Given the description of an element on the screen output the (x, y) to click on. 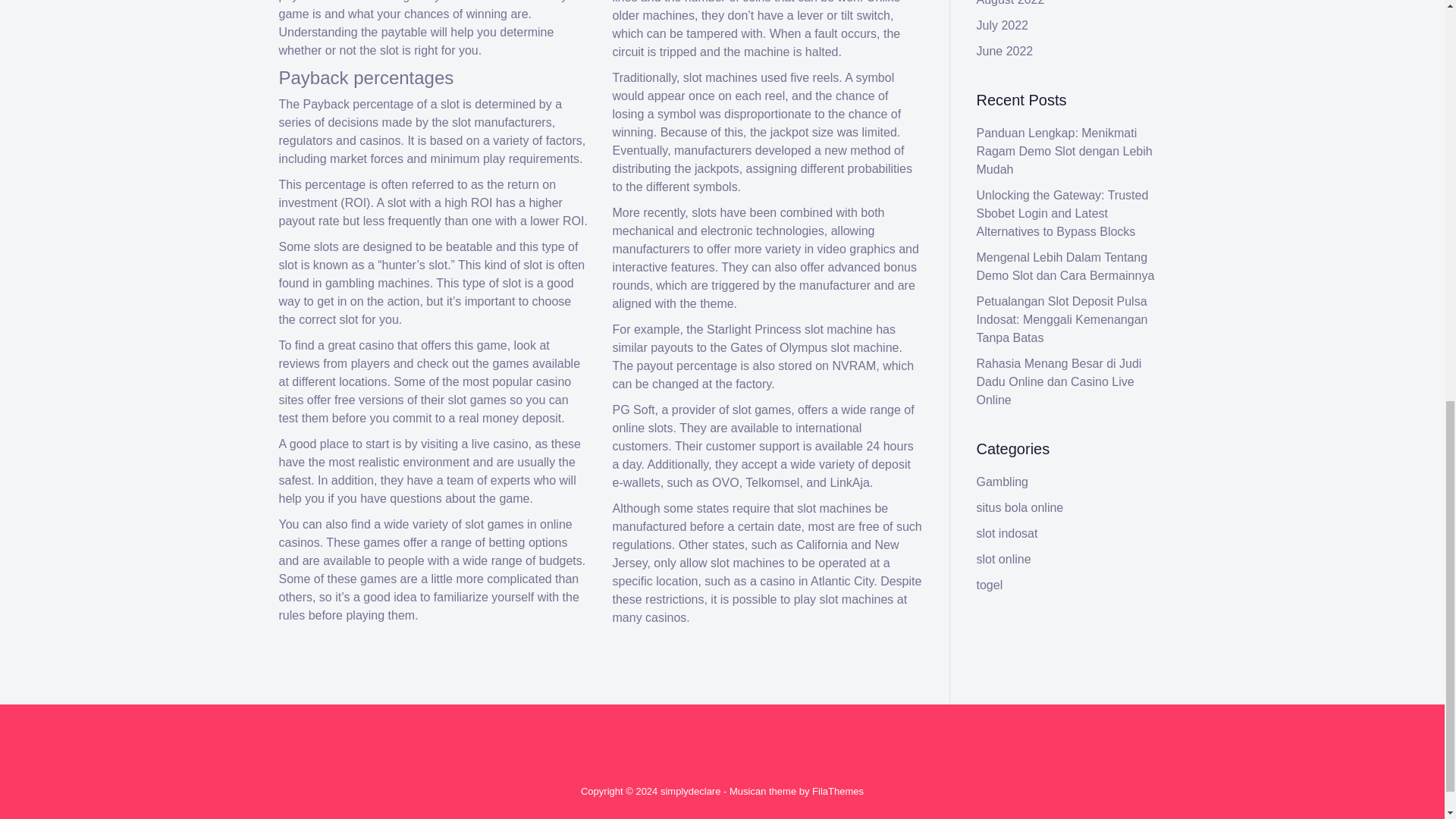
simplydeclare (690, 790)
August 2022 (1010, 2)
